Given the description of an element on the screen output the (x, y) to click on. 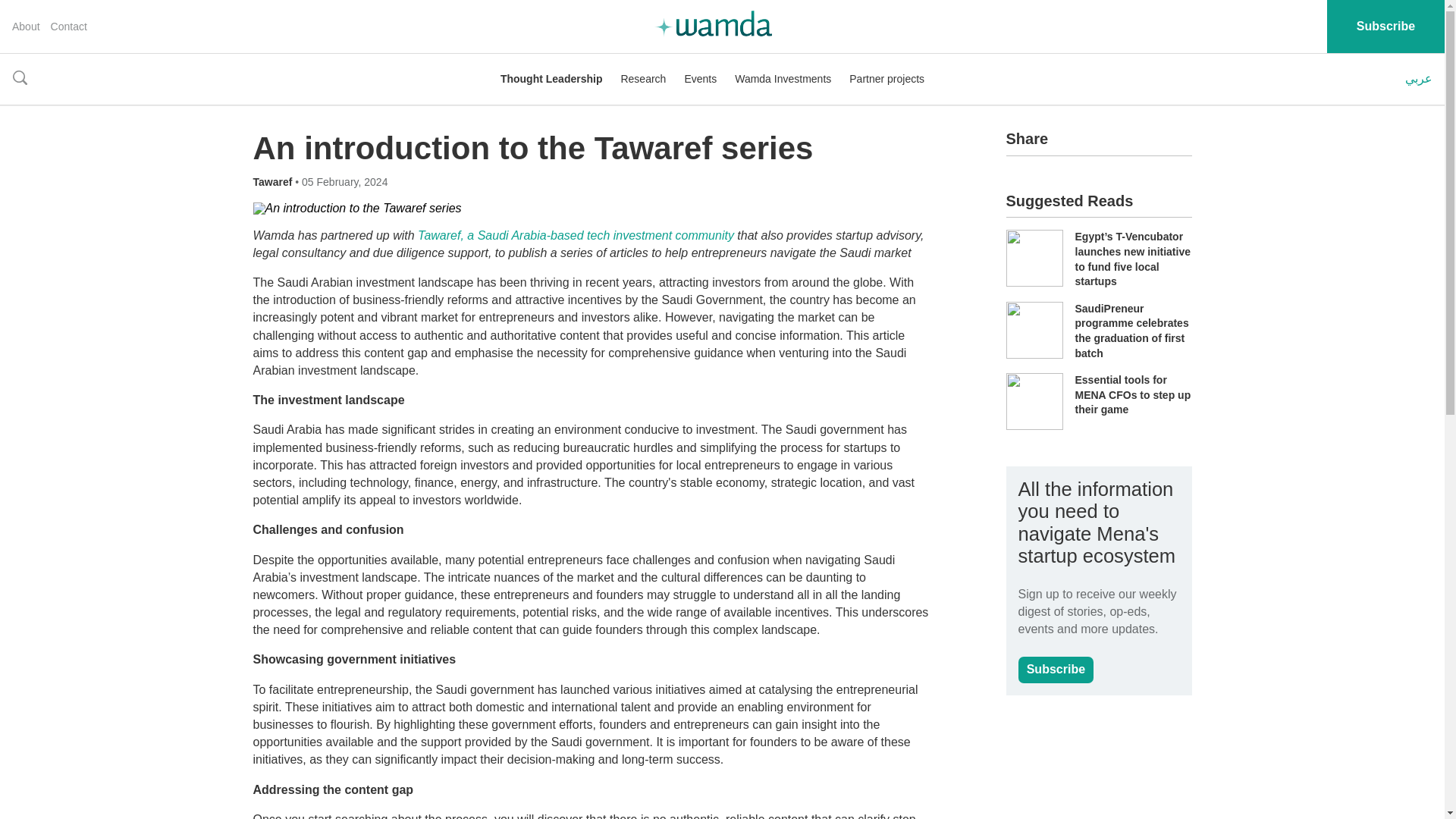
Subscribe (1055, 669)
Research (642, 79)
Tawaref (274, 182)
Contact (68, 26)
Essential tools for MENA CFOs to step up their game (1133, 394)
Thought Leadership (551, 79)
Tawaref, a Saudi Arabia-based tech investment community (575, 235)
Partner projects (886, 79)
About (25, 26)
